Given the description of an element on the screen output the (x, y) to click on. 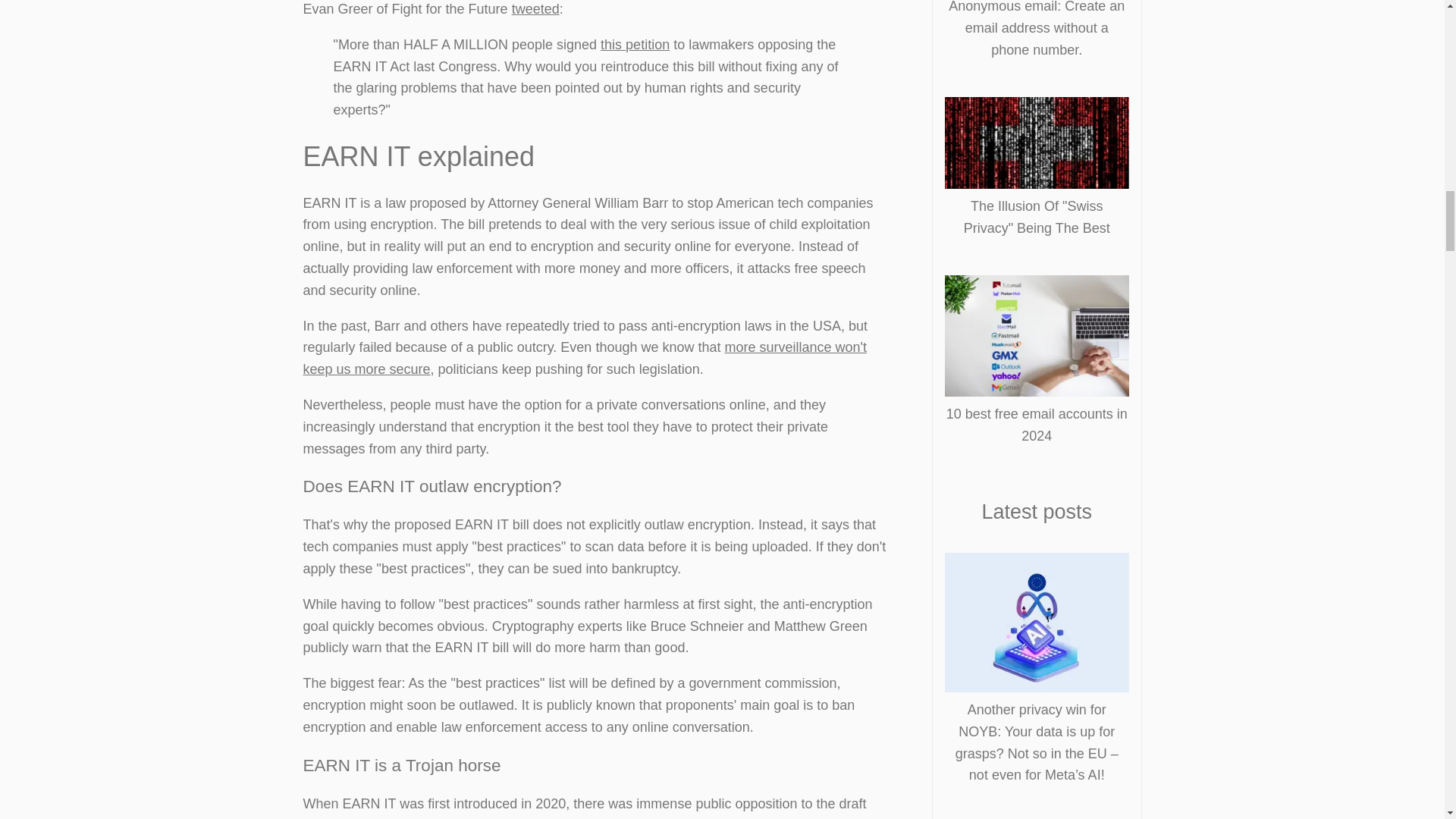
tweeted (535, 8)
more surveillance won't keep us more secure (584, 357)
this petition (634, 44)
